Given the description of an element on the screen output the (x, y) to click on. 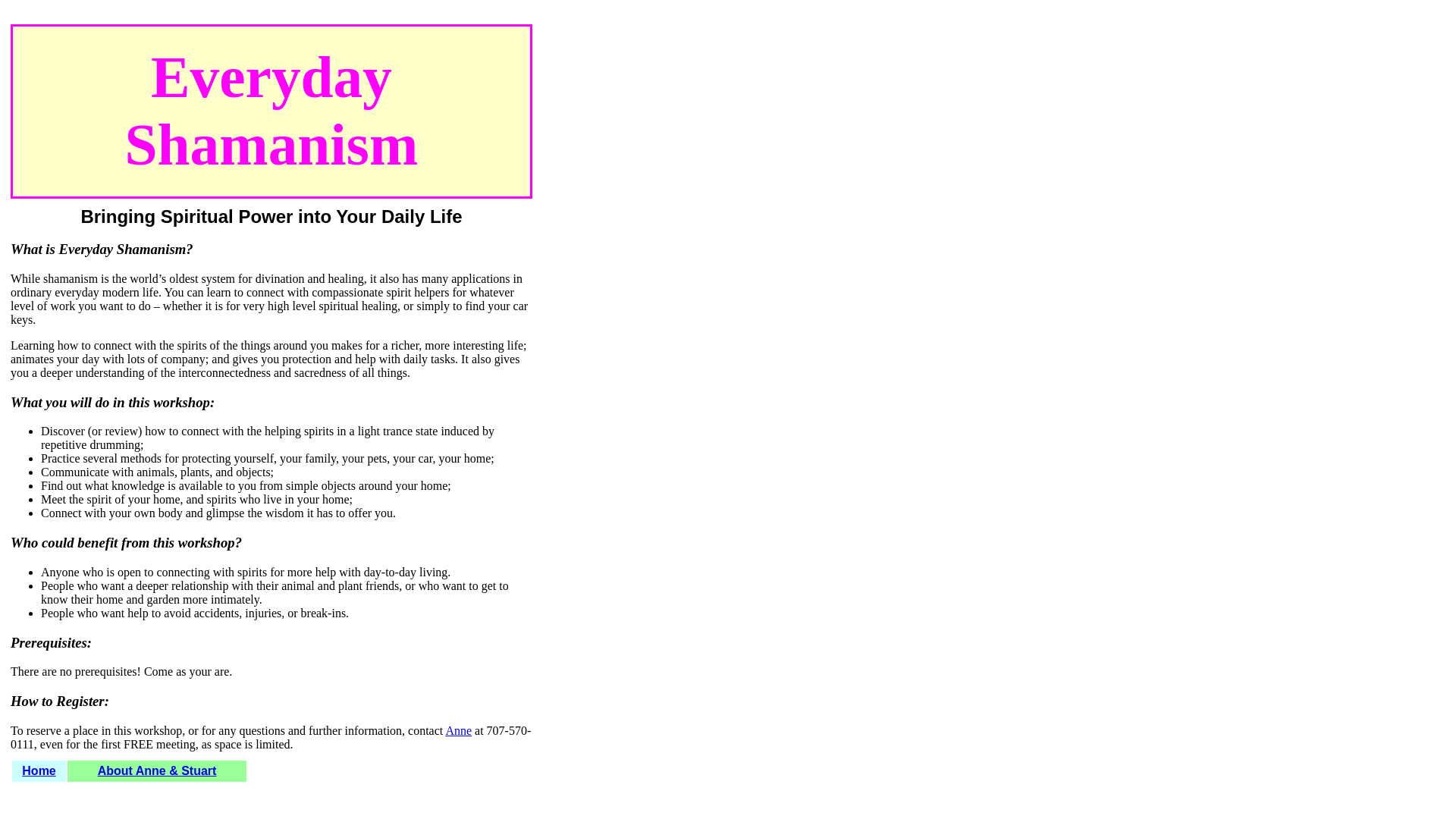
Anne (458, 730)
Home (38, 770)
